Given the description of an element on the screen output the (x, y) to click on. 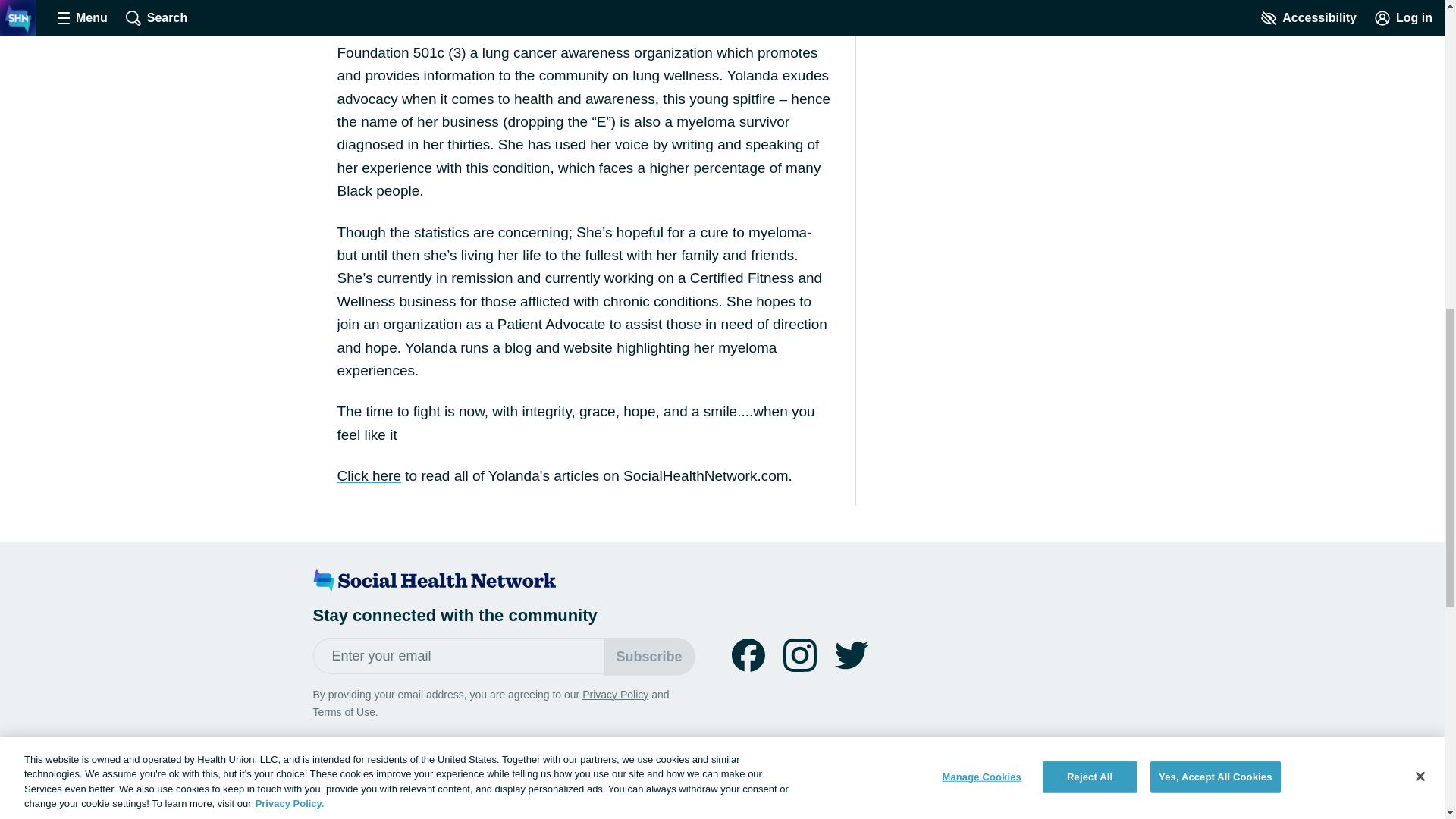
Follow us on facebook (747, 654)
Follow us on instagram (799, 654)
Follow us on twitter (850, 654)
